Given the description of an element on the screen output the (x, y) to click on. 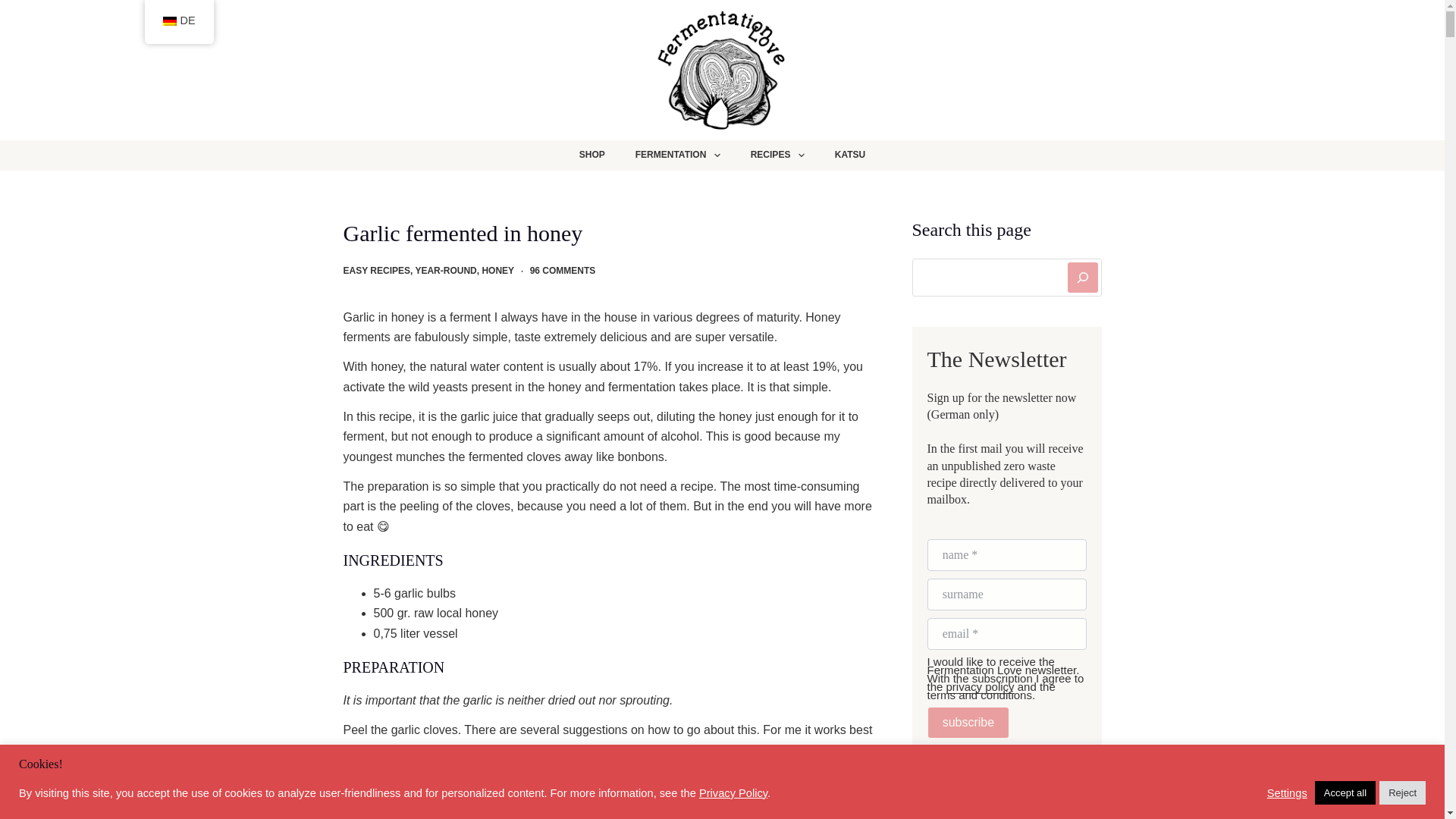
Skip to content (15, 7)
Deutsch (168, 20)
RECIPES (777, 155)
FERMENTATION (677, 155)
subscribe (967, 722)
SHOP (592, 155)
Garlic fermented in honey (607, 233)
